Given the description of an element on the screen output the (x, y) to click on. 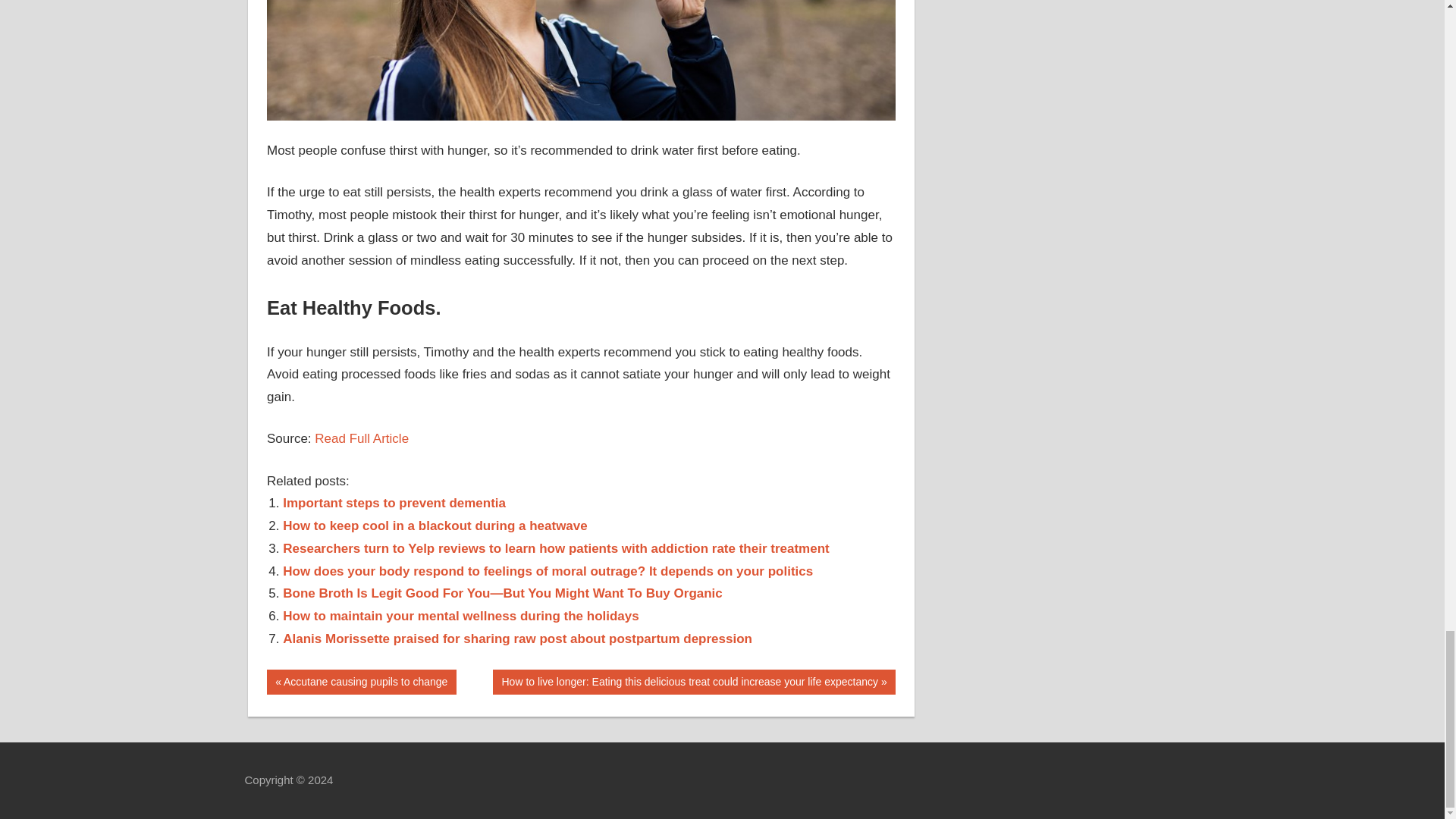
Important steps to prevent dementia (393, 503)
EATING (361, 681)
Important steps to prevent dementia (287, 679)
Read Full Article (393, 503)
How to keep cool in a blackout during a heatwave (361, 438)
